Given the description of an element on the screen output the (x, y) to click on. 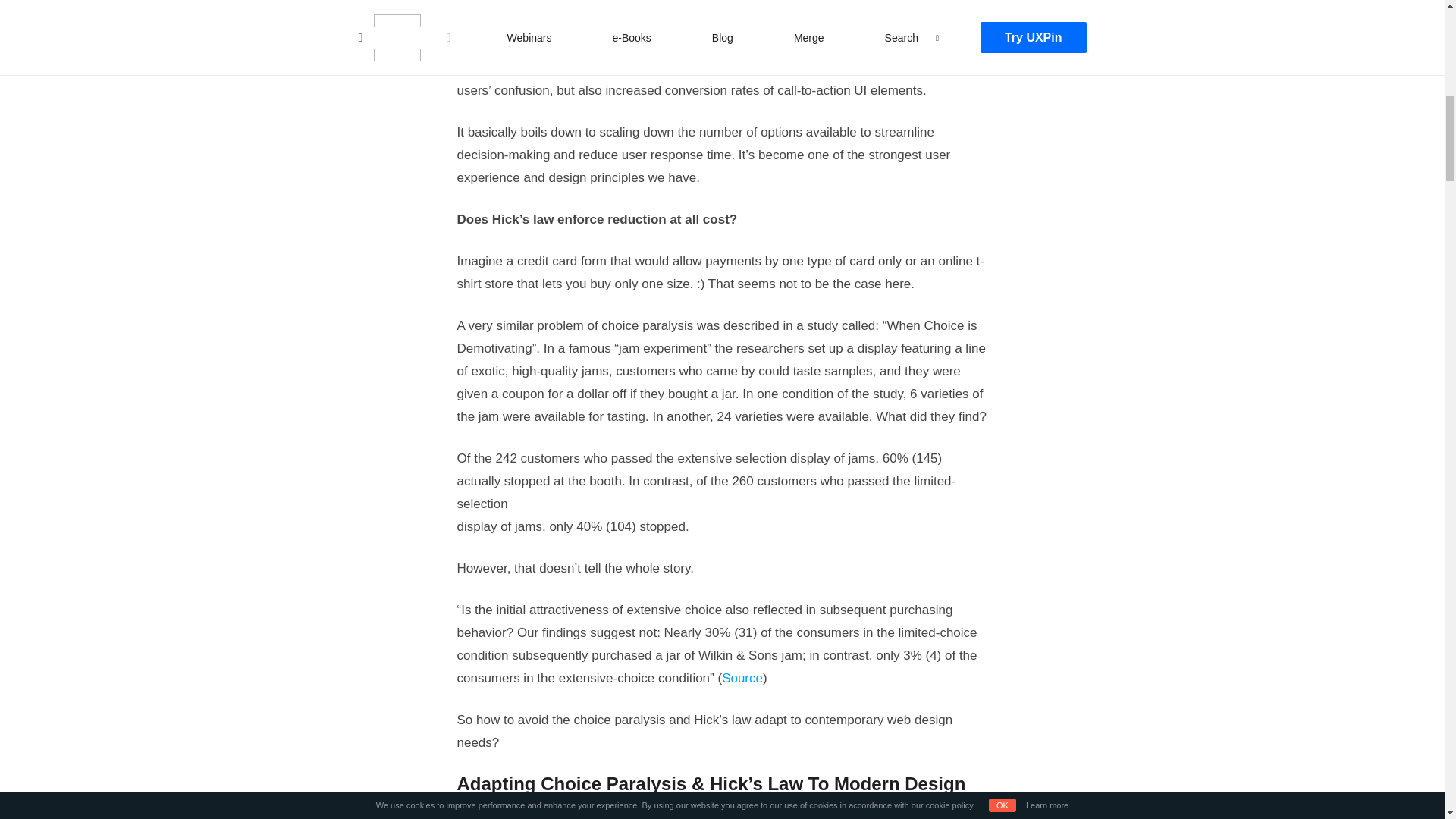
Source (742, 677)
